Given the description of an element on the screen output the (x, y) to click on. 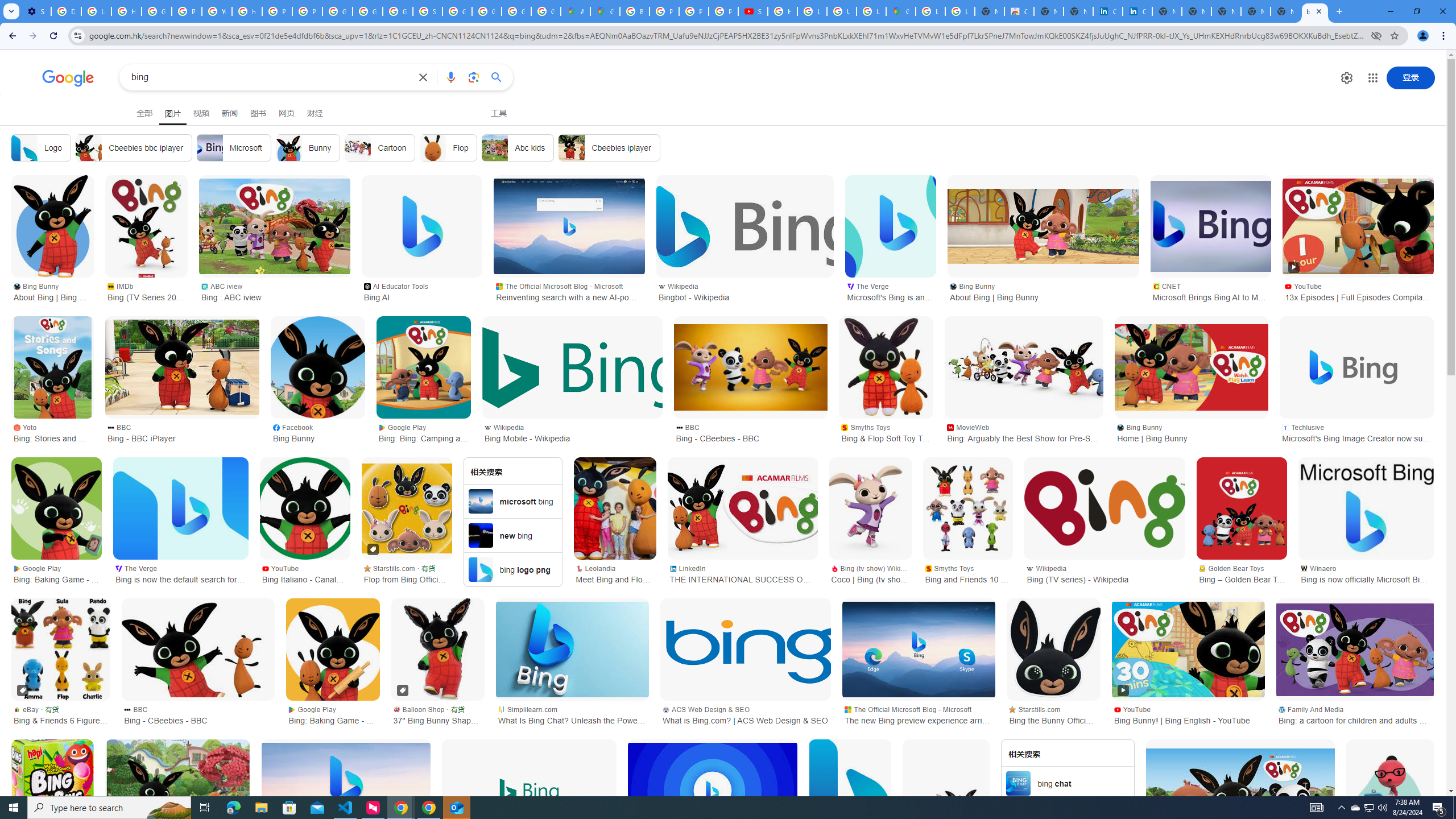
Leolandia Meet Bing and Flop - Leolandia (614, 573)
Flop from Bing Official 2D Card Party Mask (406, 508)
Starstills.com Bing the Bunny Official 2D Card Party Mask (1053, 714)
bing chat (1067, 782)
Microsoft Brings Bing AI to More Browsers - CNET (1210, 226)
